Given the description of an element on the screen output the (x, y) to click on. 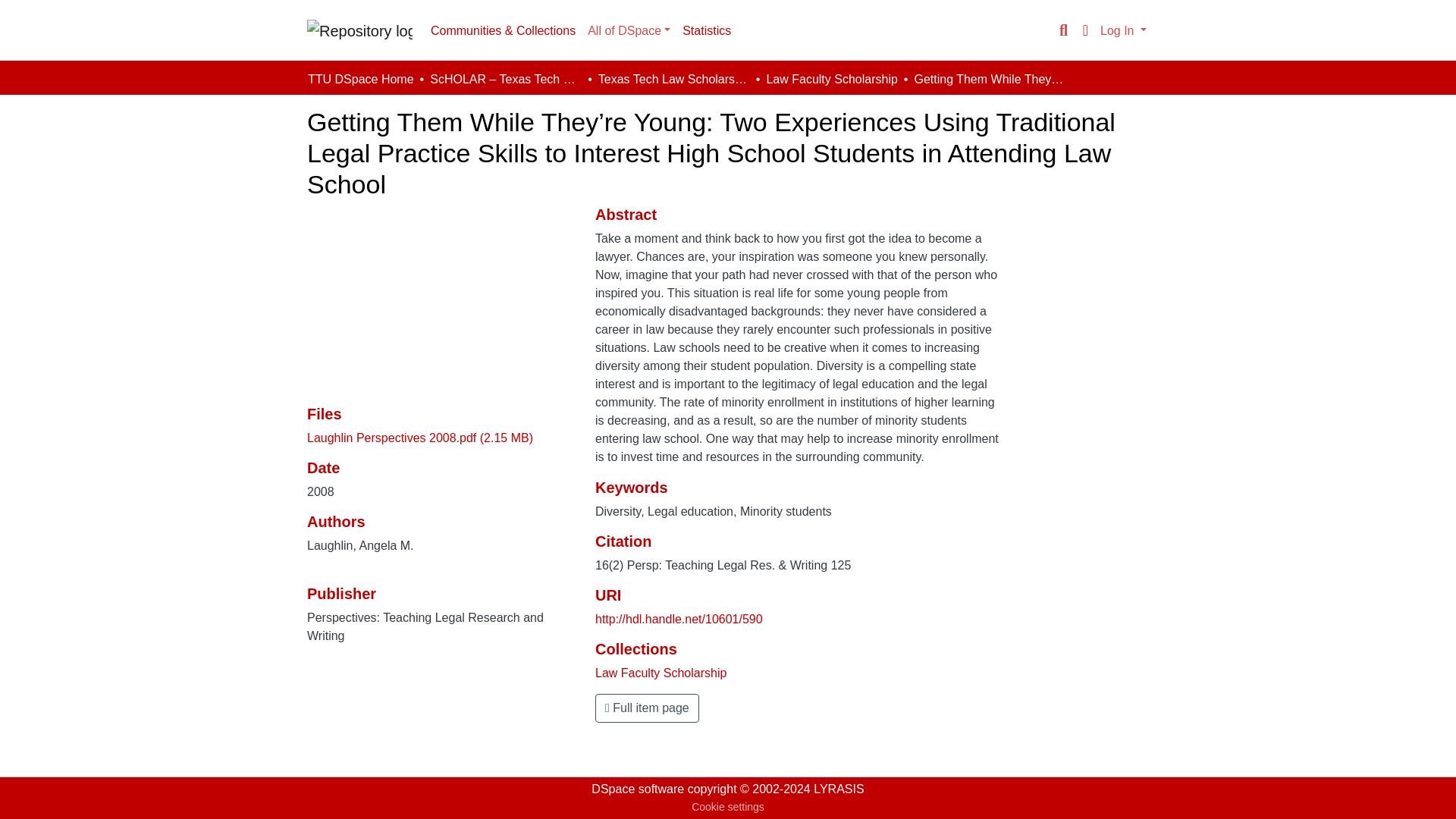
Cookie settings (727, 806)
Law Faculty Scholarship (660, 672)
Full item page (646, 707)
DSpace software (637, 788)
Log In (1122, 30)
Texas Tech Law Scholarship (673, 79)
All of DSpace (628, 30)
Statistics (706, 30)
Search (1063, 30)
LYRASIS (838, 788)
Language switch (1084, 30)
TTU DSpace Home (360, 79)
Law Faculty Scholarship (830, 79)
Statistics (706, 30)
